Given the description of an element on the screen output the (x, y) to click on. 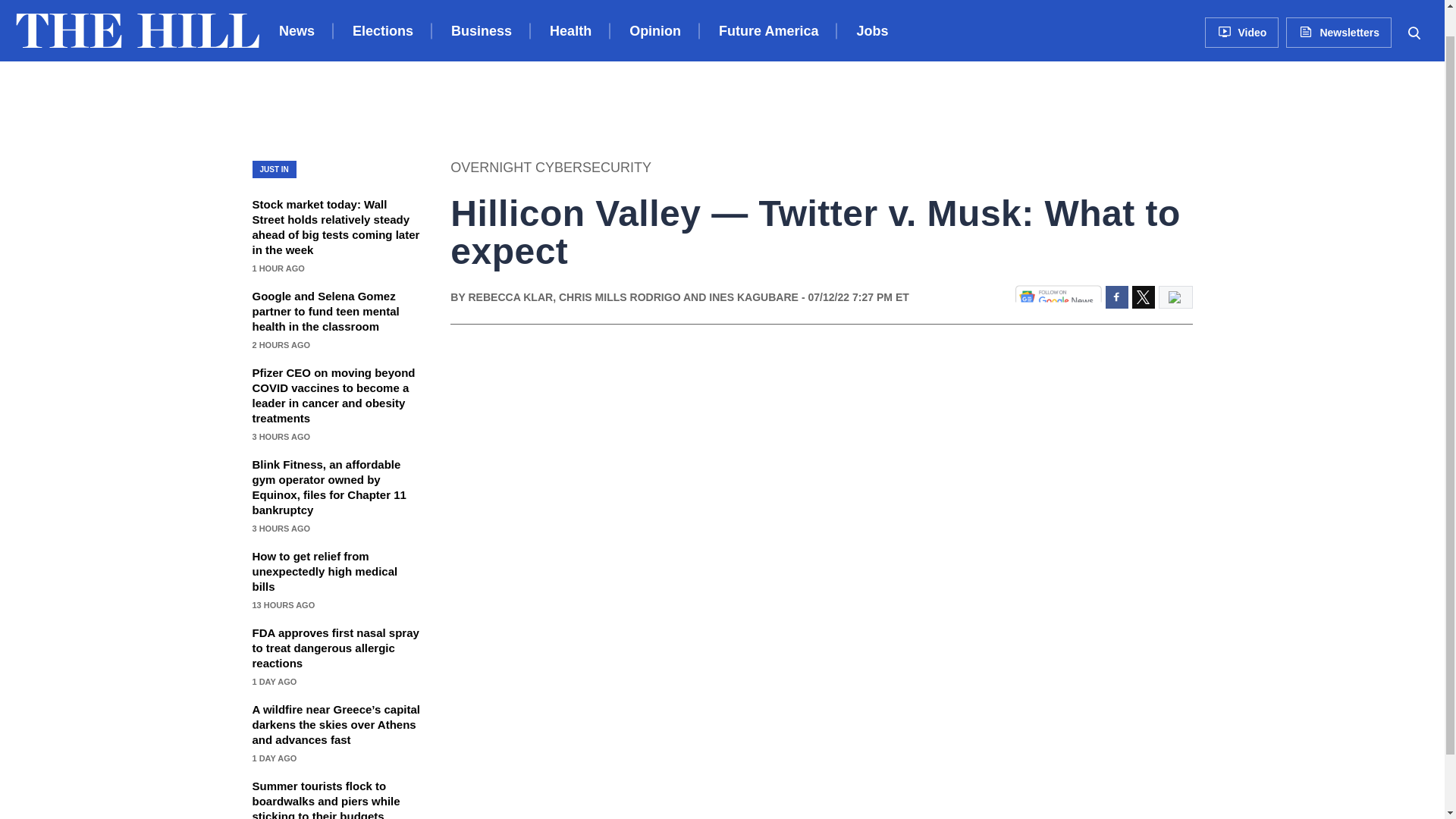
News (296, 10)
Business (481, 10)
Overnight Cybersecurity (549, 167)
Elections (382, 10)
Search (1414, 4)
